Given the description of an element on the screen output the (x, y) to click on. 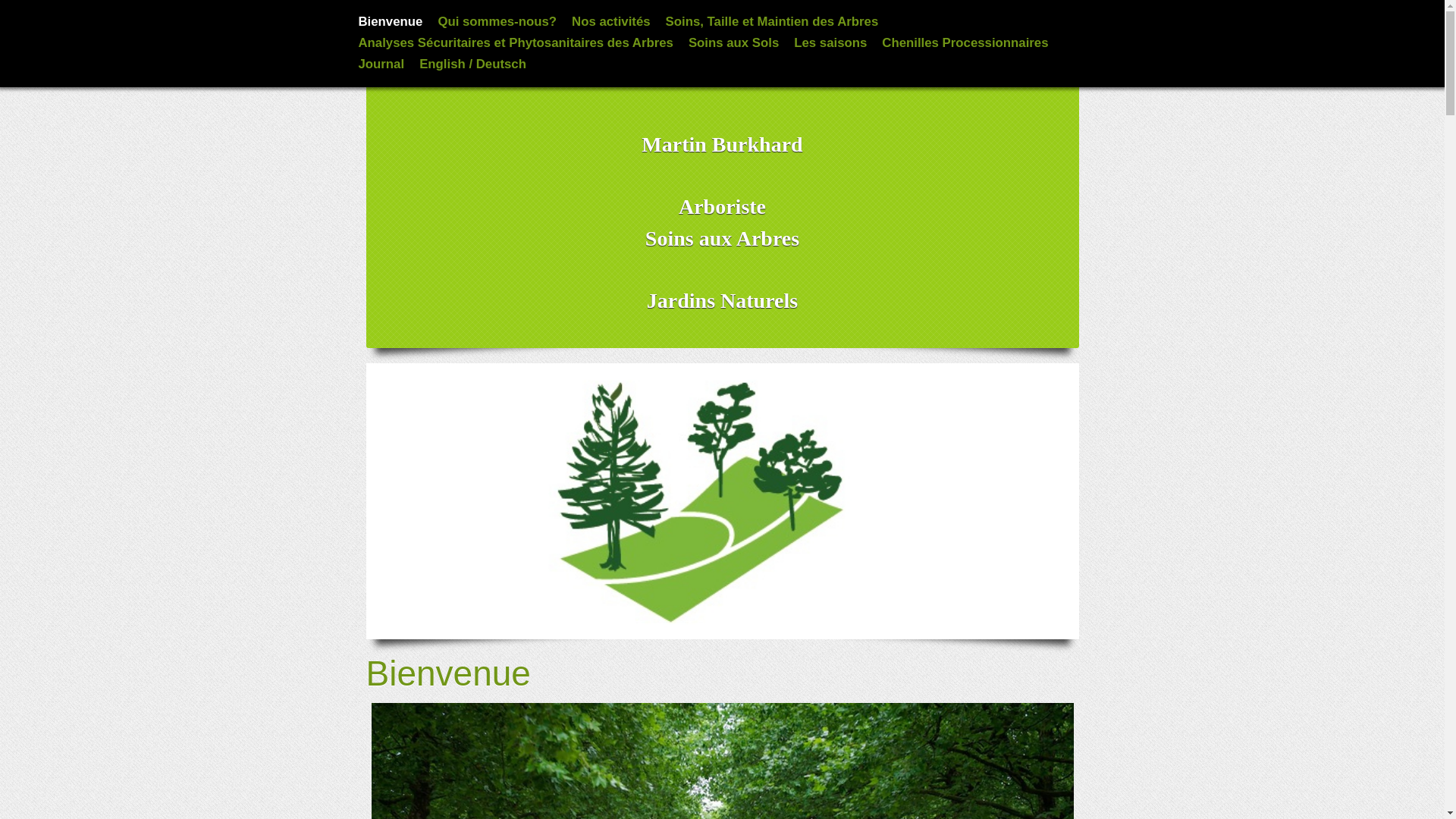
English / Deutsch Element type: text (472, 63)
Journal Element type: text (380, 63)
Soins aux Sols Element type: text (733, 42)
Qui sommes-nous? Element type: text (496, 21)
Chenilles Processionnaires Element type: text (964, 42)
Les saisons Element type: text (829, 42)
Bienvenue Element type: text (389, 21)
Soins, Taille et Maintien des Arbres Element type: text (771, 21)
